Given the description of an element on the screen output the (x, y) to click on. 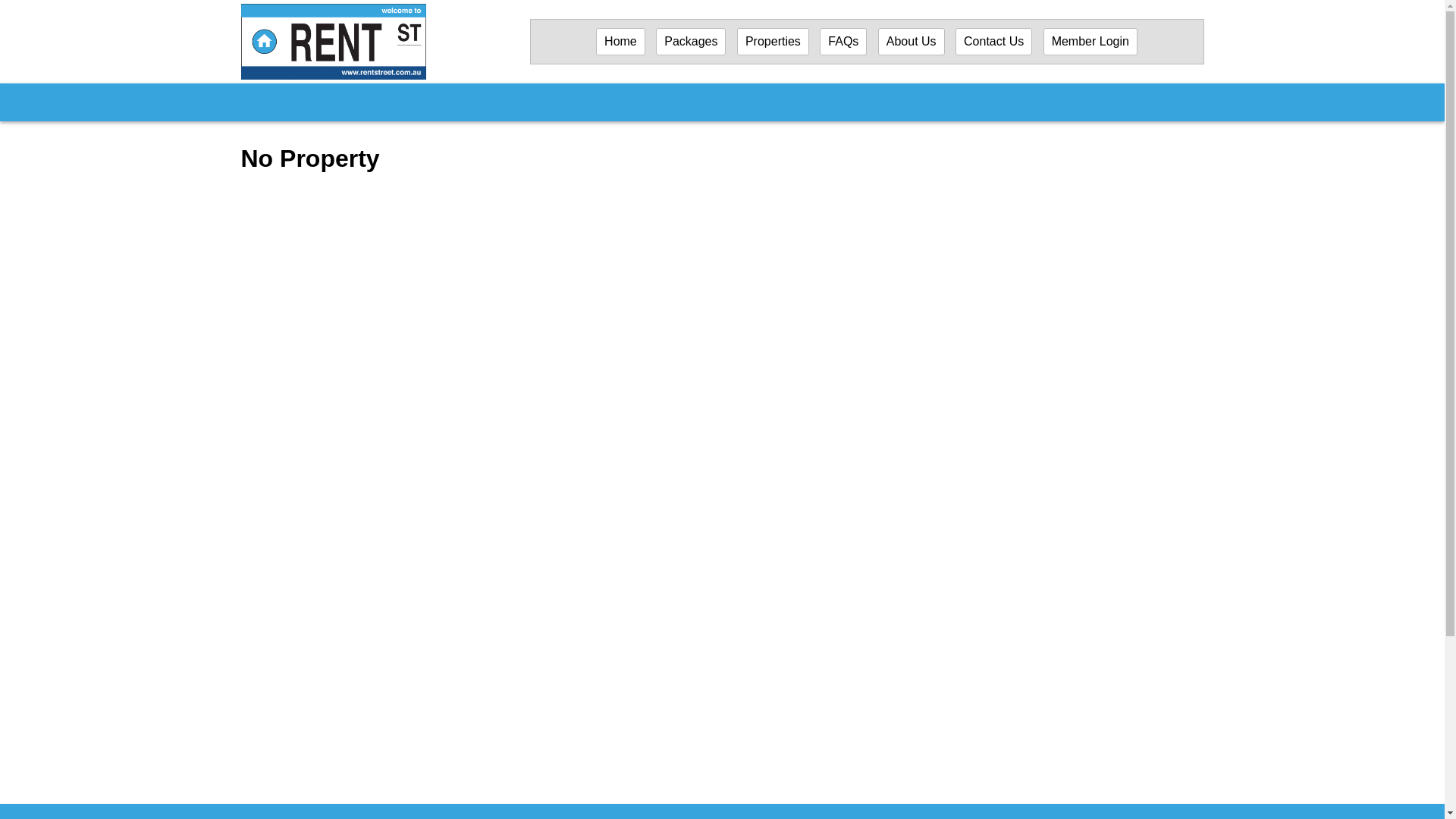
Home (620, 41)
FAQs (842, 41)
Packages (690, 41)
Member Login (1090, 41)
Contact Us (993, 41)
About Us (910, 41)
Properties (772, 41)
